Given the description of an element on the screen output the (x, y) to click on. 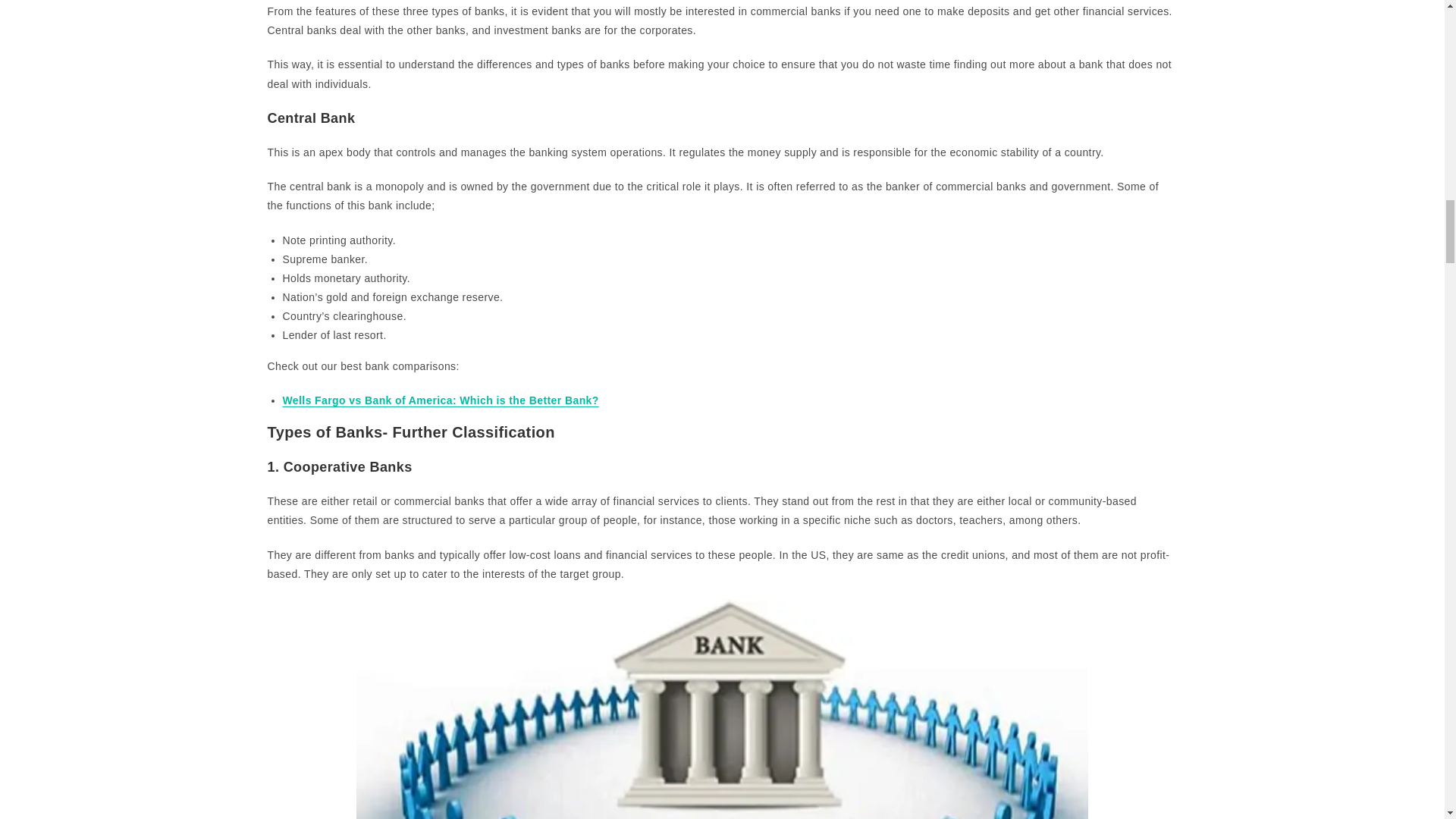
Wells Fargo vs Bank of America: Which is the Better Bank? (440, 399)
